Given the description of an element on the screen output the (x, y) to click on. 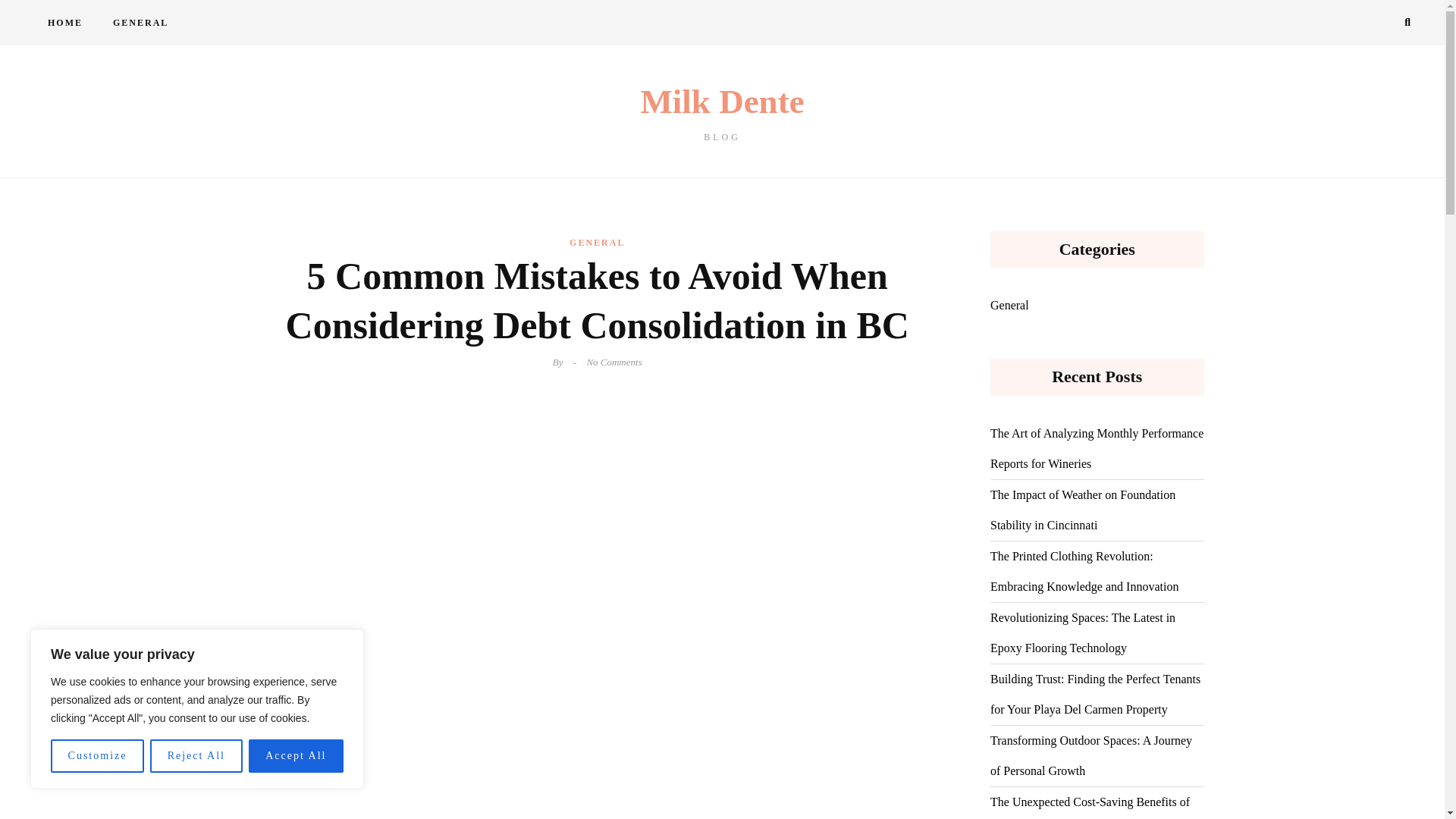
HOME (64, 22)
GENERAL (721, 112)
GENERAL (596, 241)
Accept All (140, 22)
Reject All (295, 756)
Customize (196, 756)
